Given the description of an element on the screen output the (x, y) to click on. 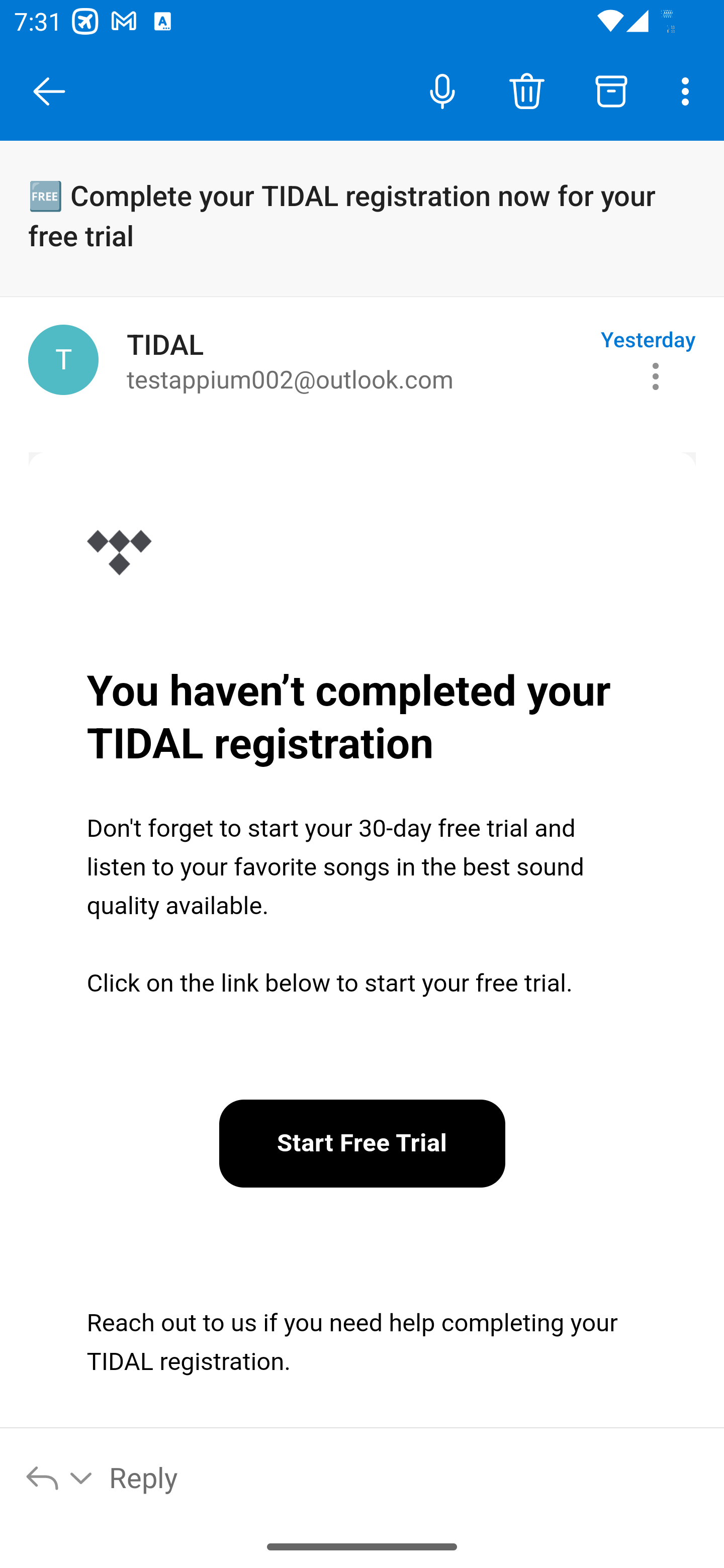
Close (49, 91)
Delete (526, 90)
Archive (611, 90)
More options (688, 90)
TIDAL, hello@email.tidal.com (63, 359)
TIDAL
to testappium002@outlook.com (356, 359)
Message actions (655, 376)
Reply options (59, 1476)
